Given the description of an element on the screen output the (x, y) to click on. 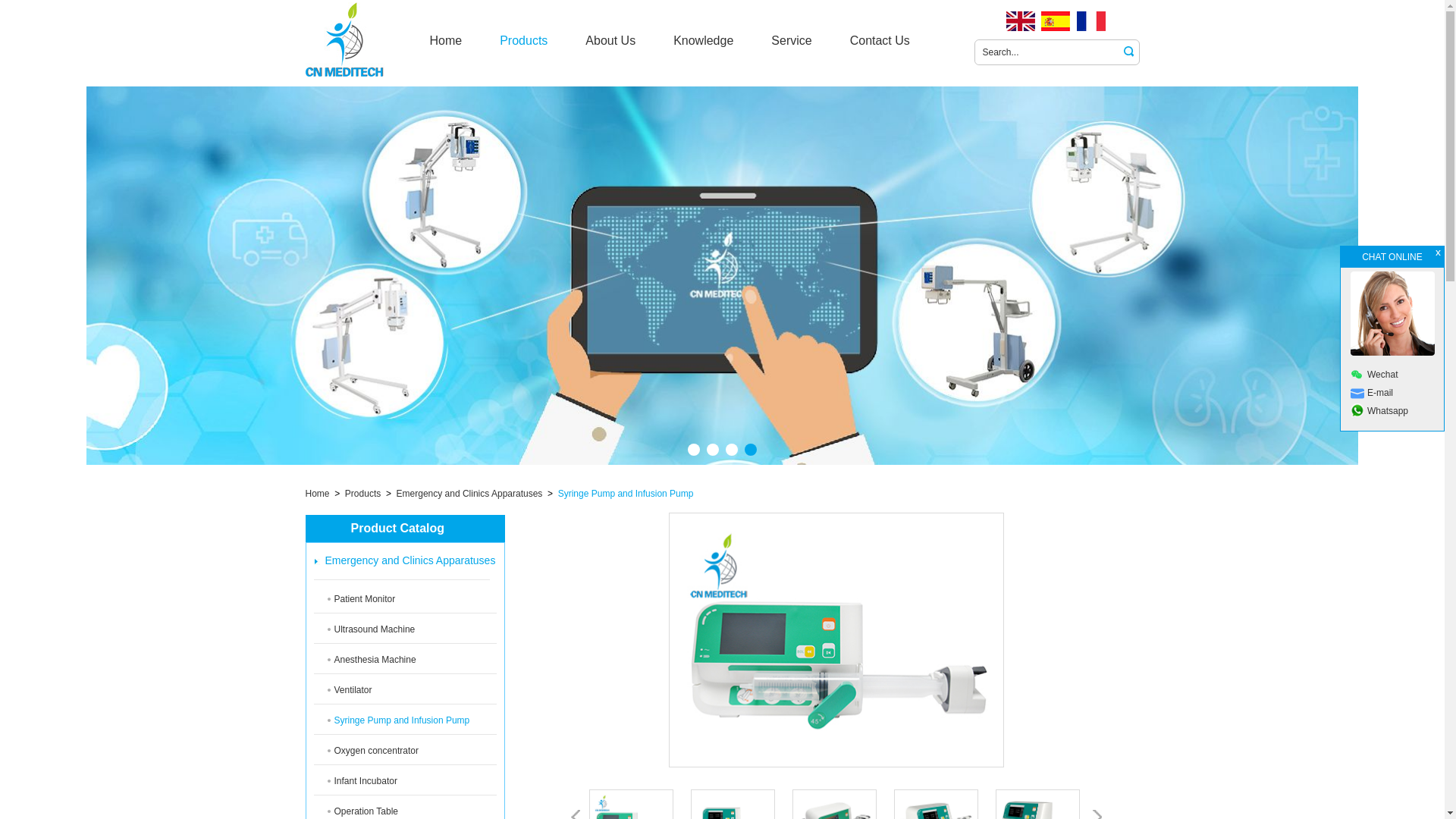
Home (445, 40)
Home (445, 40)
Products (523, 40)
Nanjing Kaihong Healthcare Co., Ltd. (344, 39)
Nanjing Kaihong Healthcare Co., Ltd. (357, 40)
Products (523, 40)
